Given the description of an element on the screen output the (x, y) to click on. 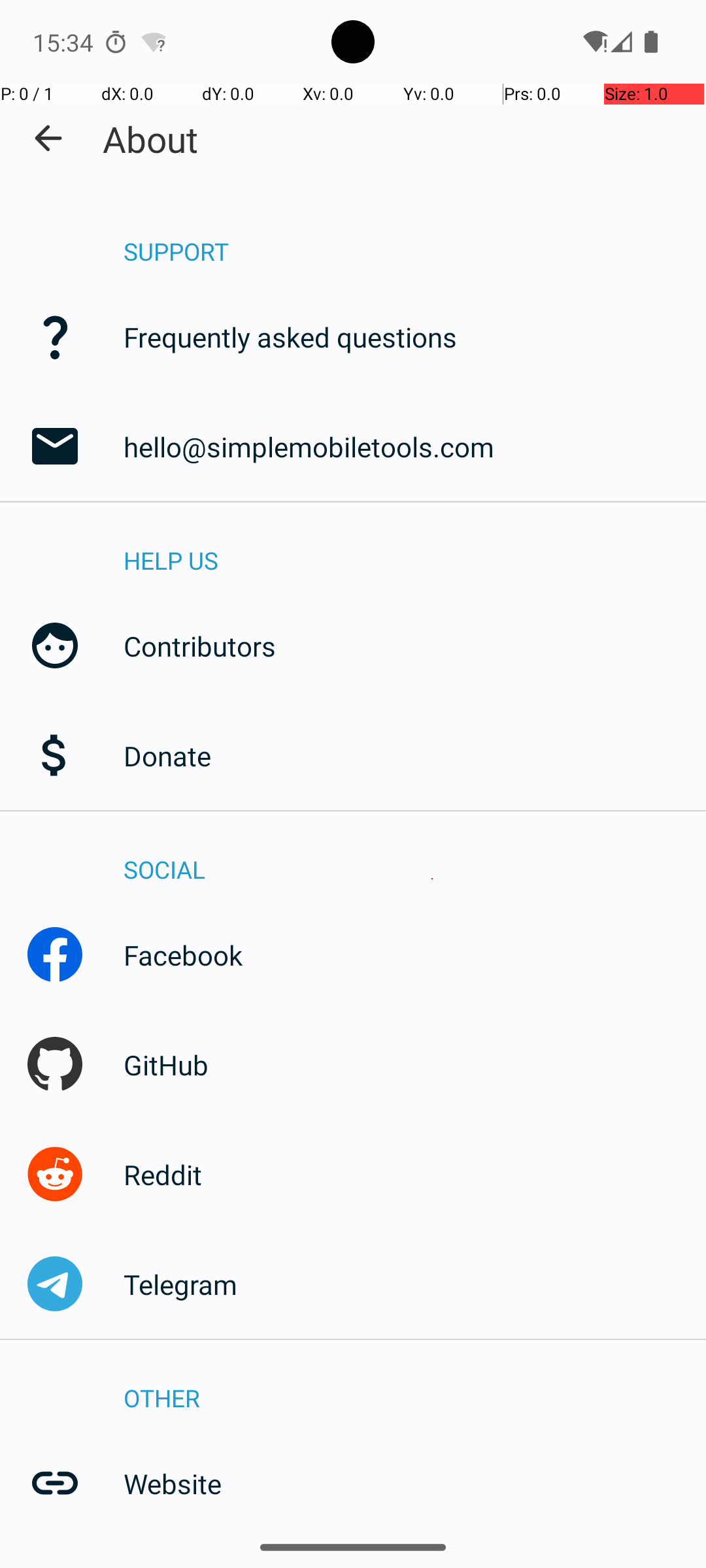
SUPPORT Element type: android.widget.TextView (414, 237)
HELP US Element type: android.widget.TextView (414, 546)
SOCIAL Element type: android.widget.TextView (414, 855)
OTHER Element type: android.widget.TextView (414, 1383)
Frequently asked questions Element type: android.widget.TextView (414, 336)
hello@simplemobiletools.com Element type: android.widget.TextView (414, 446)
Donate Element type: android.widget.TextView (414, 755)
Facebook Element type: android.widget.TextView (414, 954)
GitHub Element type: android.widget.TextView (414, 1064)
Reddit Element type: android.widget.TextView (414, 1173)
Telegram Element type: android.widget.TextView (414, 1283)
Website Element type: android.widget.TextView (414, 1483)
